Given the description of an element on the screen output the (x, y) to click on. 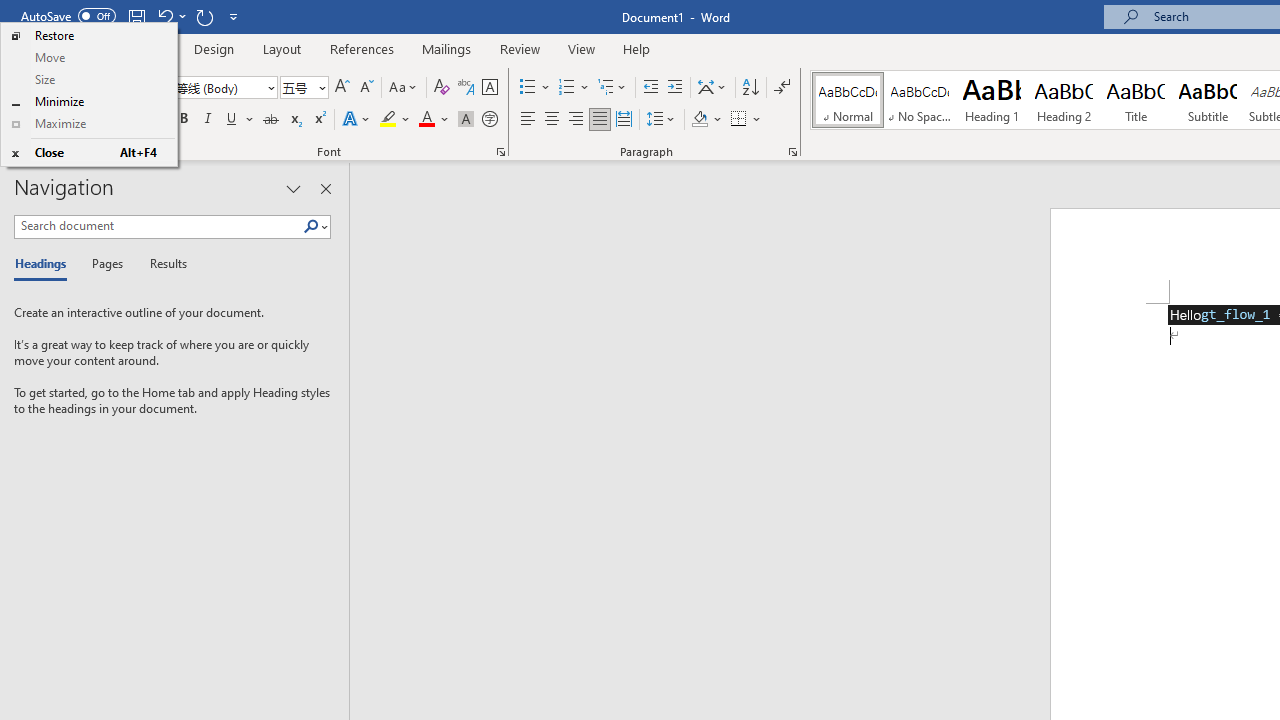
Move (88, 57)
Undo Paste (170, 15)
